Given the description of an element on the screen output the (x, y) to click on. 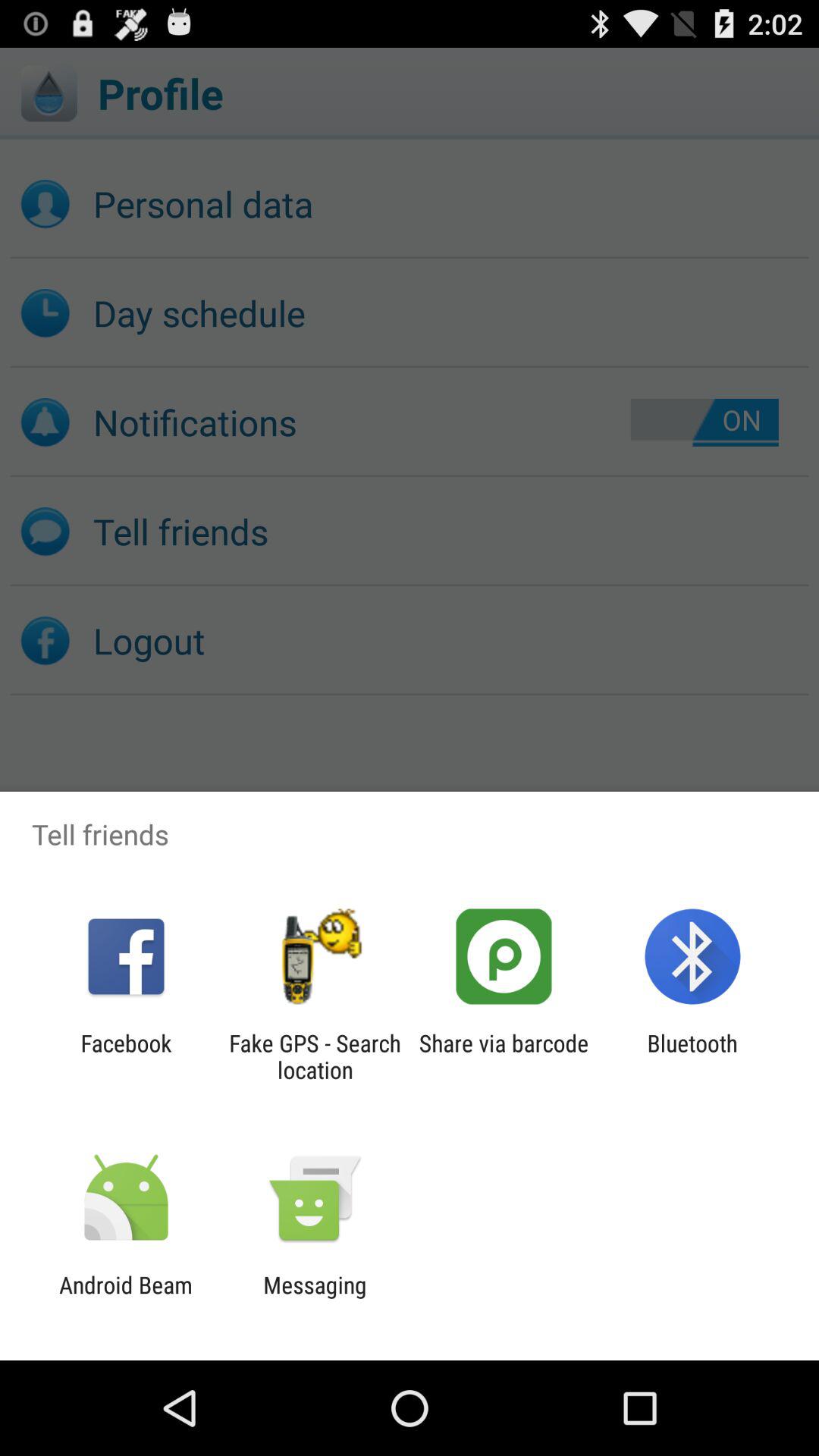
click the icon next to the fake gps search item (503, 1056)
